Given the description of an element on the screen output the (x, y) to click on. 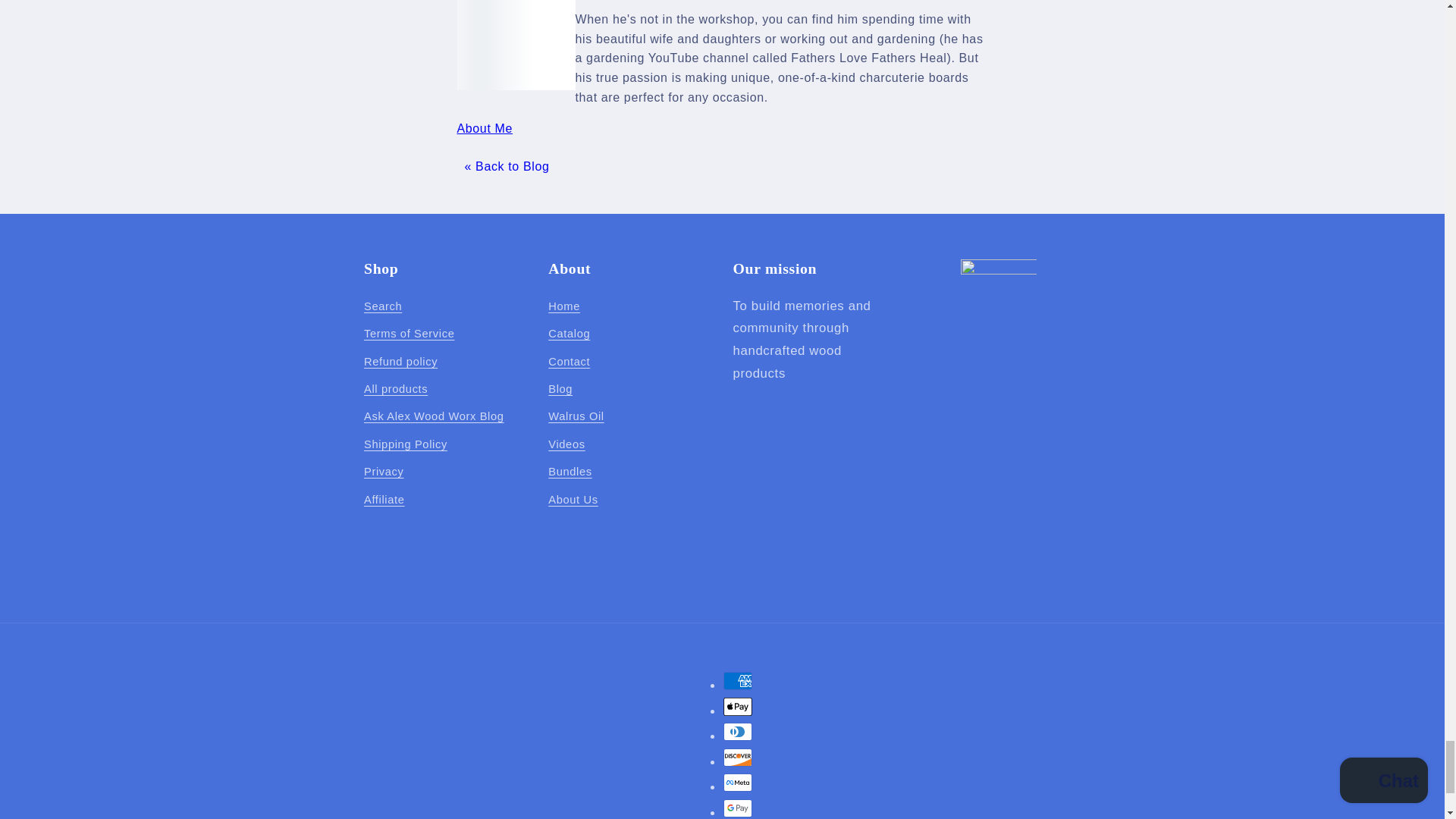
Apple Pay (737, 706)
Google Pay (737, 808)
Discover (737, 757)
Meta Pay (737, 782)
Diners Club (737, 731)
American Express (737, 680)
